Given the description of an element on the screen output the (x, y) to click on. 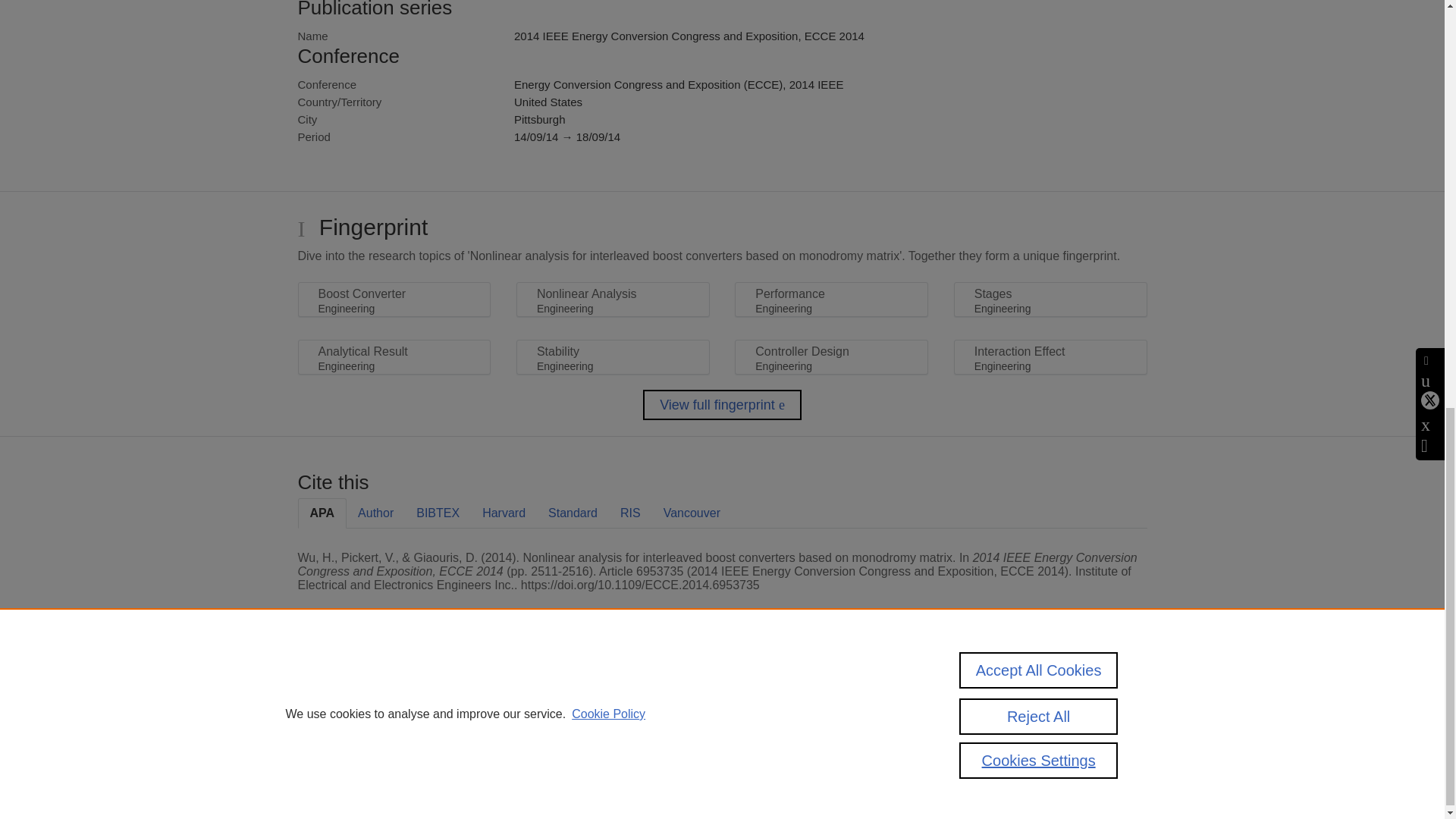
Pure (362, 690)
Elsevier B.V. (506, 711)
Scopus (394, 690)
View full fingerprint (722, 404)
